Given the description of an element on the screen output the (x, y) to click on. 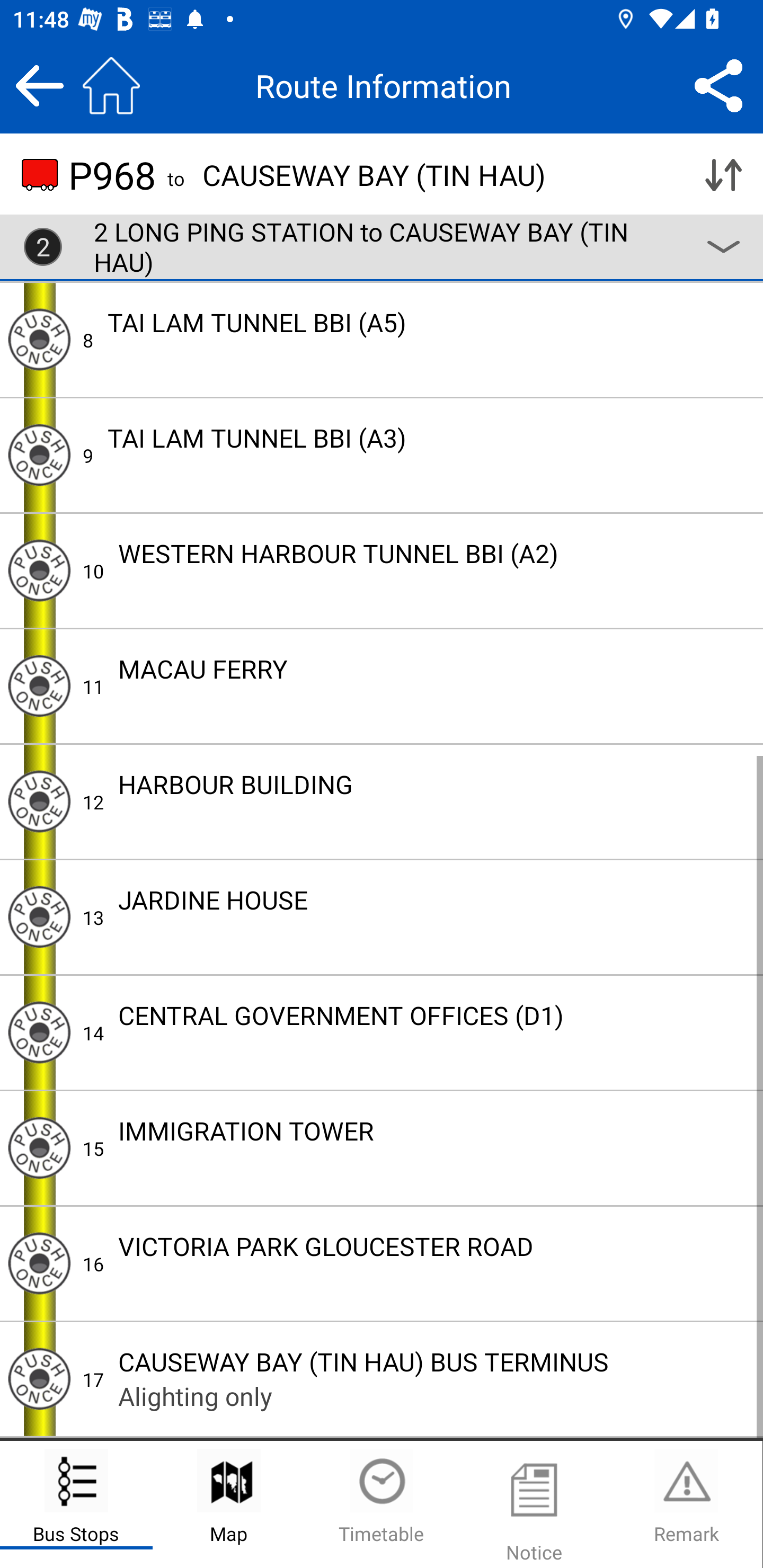
Jump to home page (111, 85)
Share point to point route search criteria) (718, 85)
Back (39, 85)
Reverse direction (723, 174)
Other routes (723, 246)
Alight Reminder (39, 339)
Alight Reminder (39, 455)
Alight Reminder (39, 570)
Alight Reminder (39, 685)
Alight Reminder (39, 801)
Alight Reminder (39, 916)
Alight Reminder (39, 1032)
Alight Reminder (39, 1147)
Alight Reminder (39, 1263)
Alight Reminder (39, 1379)
Bus Stops (76, 1504)
Map (228, 1504)
Timetable (381, 1504)
Notice (533, 1504)
Remark (686, 1504)
